Given the description of an element on the screen output the (x, y) to click on. 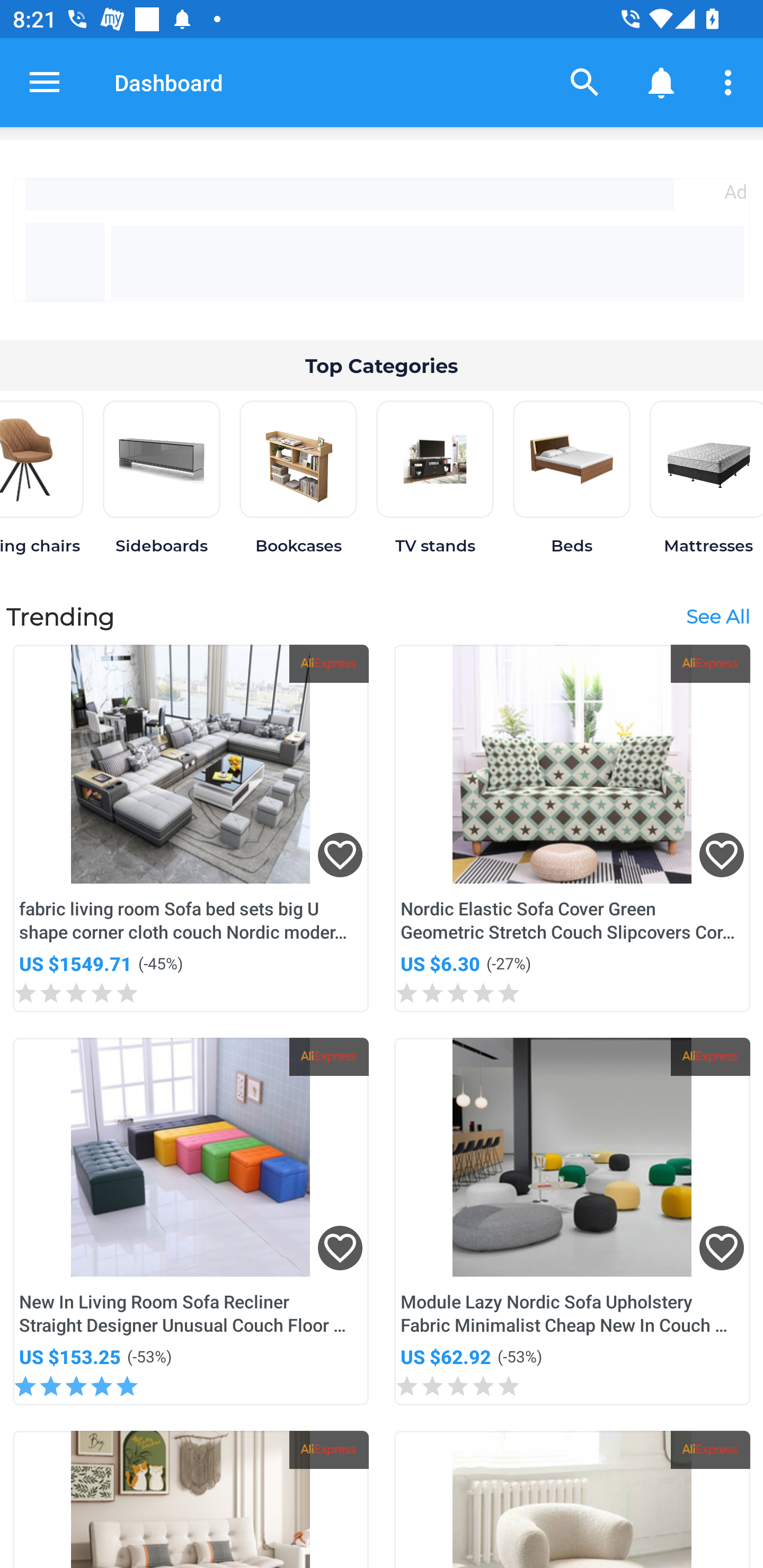
Open navigation drawer (44, 82)
Search (585, 81)
More options (731, 81)
See All (717, 615)
